Given the description of an element on the screen output the (x, y) to click on. 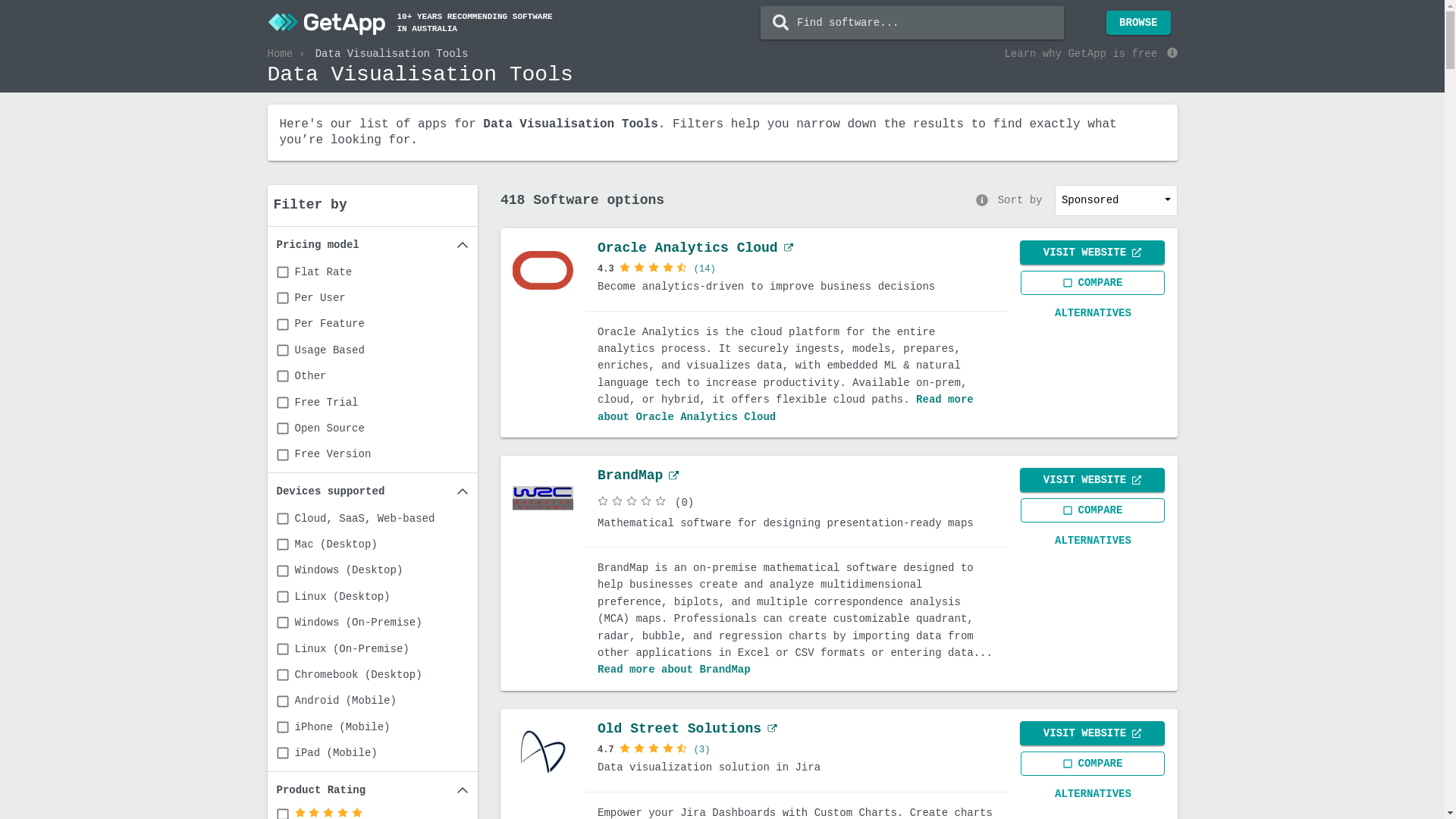
Data visualization solution in Jira Element type: text (796, 767)
Flat Rate Element type: text (372, 271)
Free Trial Element type: text (372, 402)
Free Version Element type: text (372, 453)
Other Element type: text (372, 375)
ALTERNATIVES Element type: text (1092, 540)
Android (Mobile) Element type: text (372, 700)
VISIT WEBSITE Element type: text (1091, 252)
Mathematical software for designing presentation-ready maps Element type: text (796, 531)
4.3 (14) Element type: text (796, 268)
Windows (On-Premise) Element type: text (372, 622)
Old Street Solutions Element type: text (687, 728)
Cloud, SaaS, Web-based Element type: text (372, 518)
Read more about BrandMap Element type: text (673, 669)
Per User Element type: text (372, 297)
4.7 (3) Element type: text (796, 749)
Windows (Desktop) Element type: text (372, 569)
COMPARE Element type: text (1092, 282)
iPad (Mobile) Element type: text (372, 752)
Become analytics-driven to improve business decisions Element type: text (796, 286)
Sponsored Element type: text (1115, 200)
Oracle Analytics Cloud Element type: text (695, 247)
Chromebook (Desktop) Element type: text (372, 674)
ALTERNATIVES Element type: text (1092, 793)
Per Feature Element type: text (372, 323)
Open Source Element type: text (372, 428)
Learn why GetApp is free Element type: text (1090, 53)
Linux (Desktop) Element type: text (372, 596)
Mac (Desktop) Element type: text (372, 544)
GetApp Element type: hover (326, 22)
VISIT WEBSITE Element type: text (1091, 479)
BROWSE Element type: text (1138, 22)
iPhone (Mobile) Element type: text (372, 726)
COMPARE Element type: text (1092, 763)
Read more about Oracle Analytics Cloud Element type: text (785, 407)
VISIT WEBSITE Element type: text (1091, 733)
Linux (On-Premise) Element type: text (372, 648)
BrandMap Element type: text (637, 475)
COMPARE Element type: text (1092, 510)
ALTERNATIVES Element type: text (1092, 313)
Usage Based Element type: text (372, 350)
Home Element type: text (279, 53)
